Given the description of an element on the screen output the (x, y) to click on. 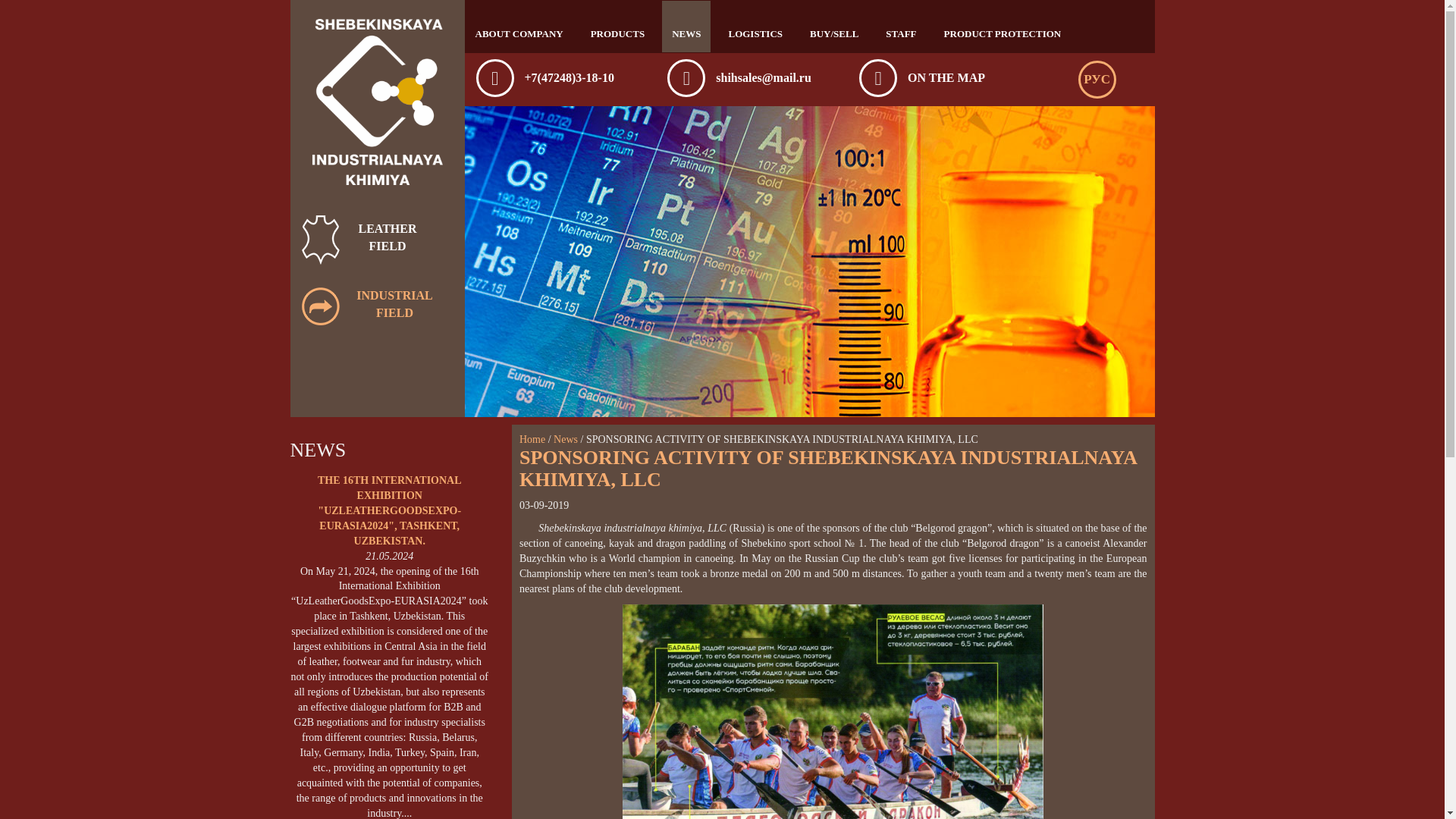
ABOUT COMPANY (519, 26)
Home (531, 439)
PRODUCT PROTECTION (1002, 26)
ON THE MAP (946, 77)
NEWS (686, 26)
INDUSTRIAL FIELD (376, 304)
PRODUCTS (617, 26)
STAFF (901, 26)
News (565, 439)
LOGISTICS (754, 26)
